Given the description of an element on the screen output the (x, y) to click on. 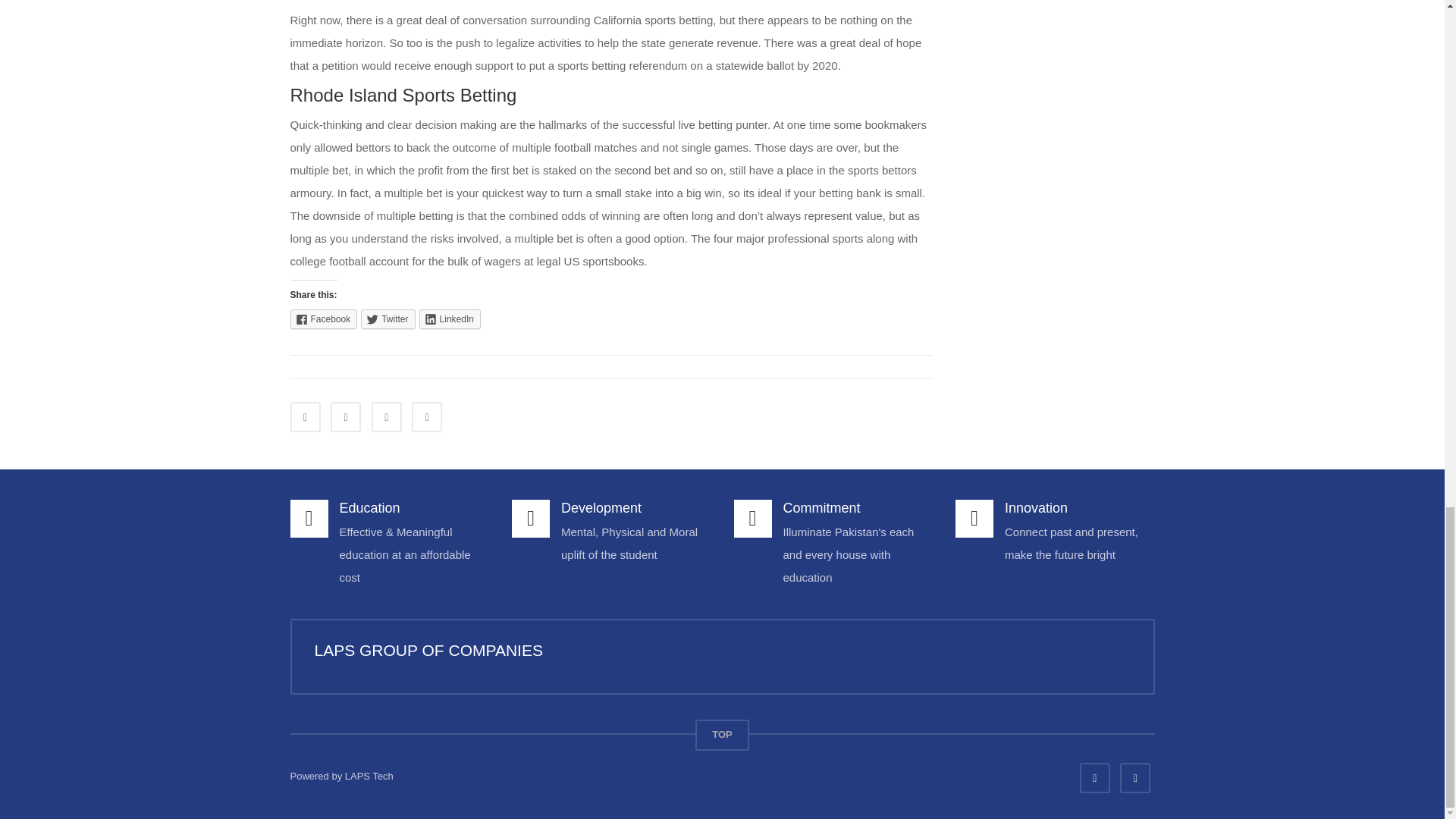
Share on LinkedIn (386, 417)
Facebook (322, 319)
Share on Facebook (304, 417)
LinkedIn (449, 319)
Click to share on Facebook (322, 319)
Click to share on Twitter (387, 319)
Share on Twitter (345, 417)
Share on Google Plus (427, 417)
Twitter (387, 319)
Click to share on LinkedIn (449, 319)
